Given the description of an element on the screen output the (x, y) to click on. 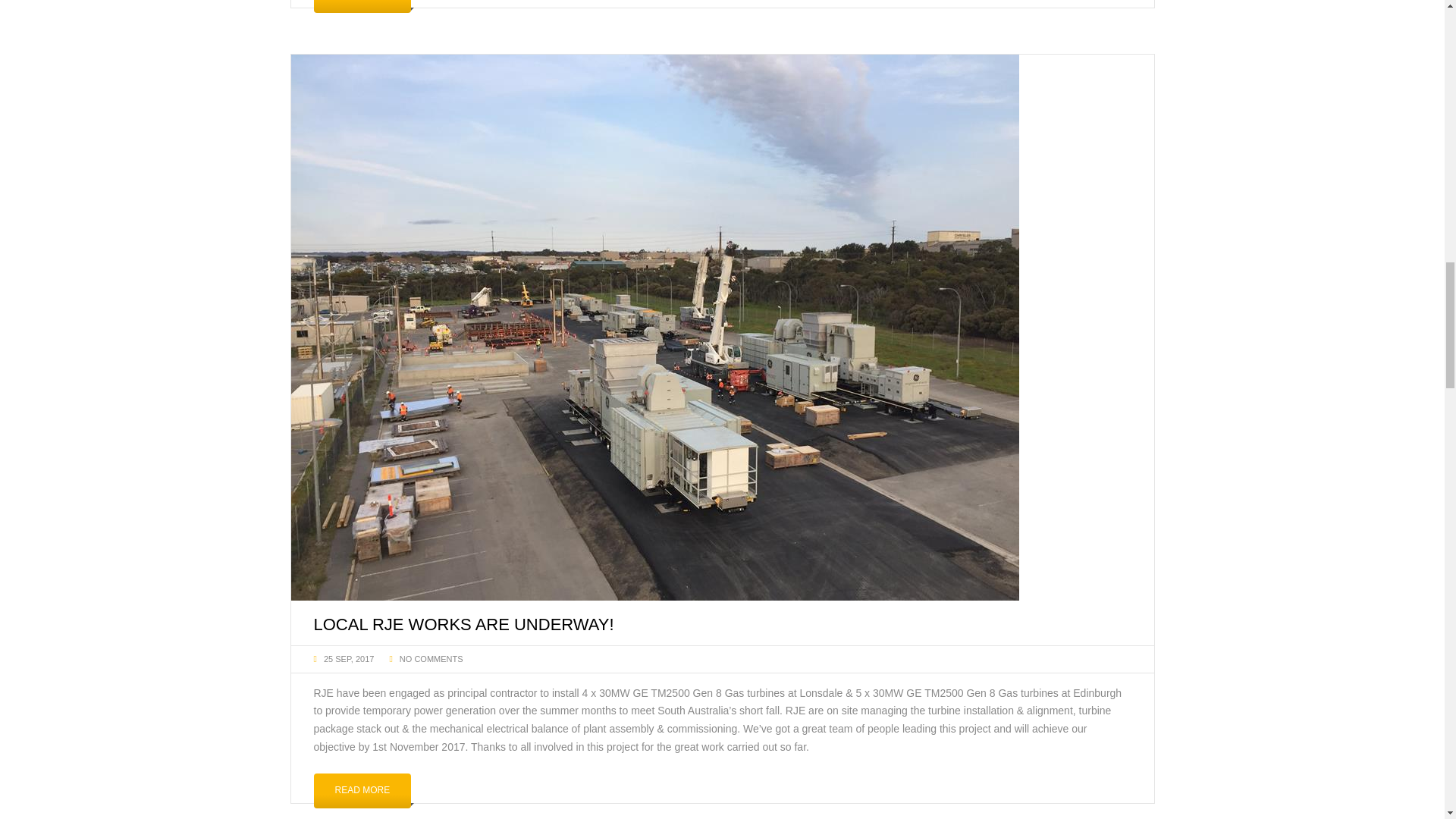
READ MORE (363, 790)
SA FAST POWER (722, 46)
READ MORE (363, 6)
